Given the description of an element on the screen output the (x, y) to click on. 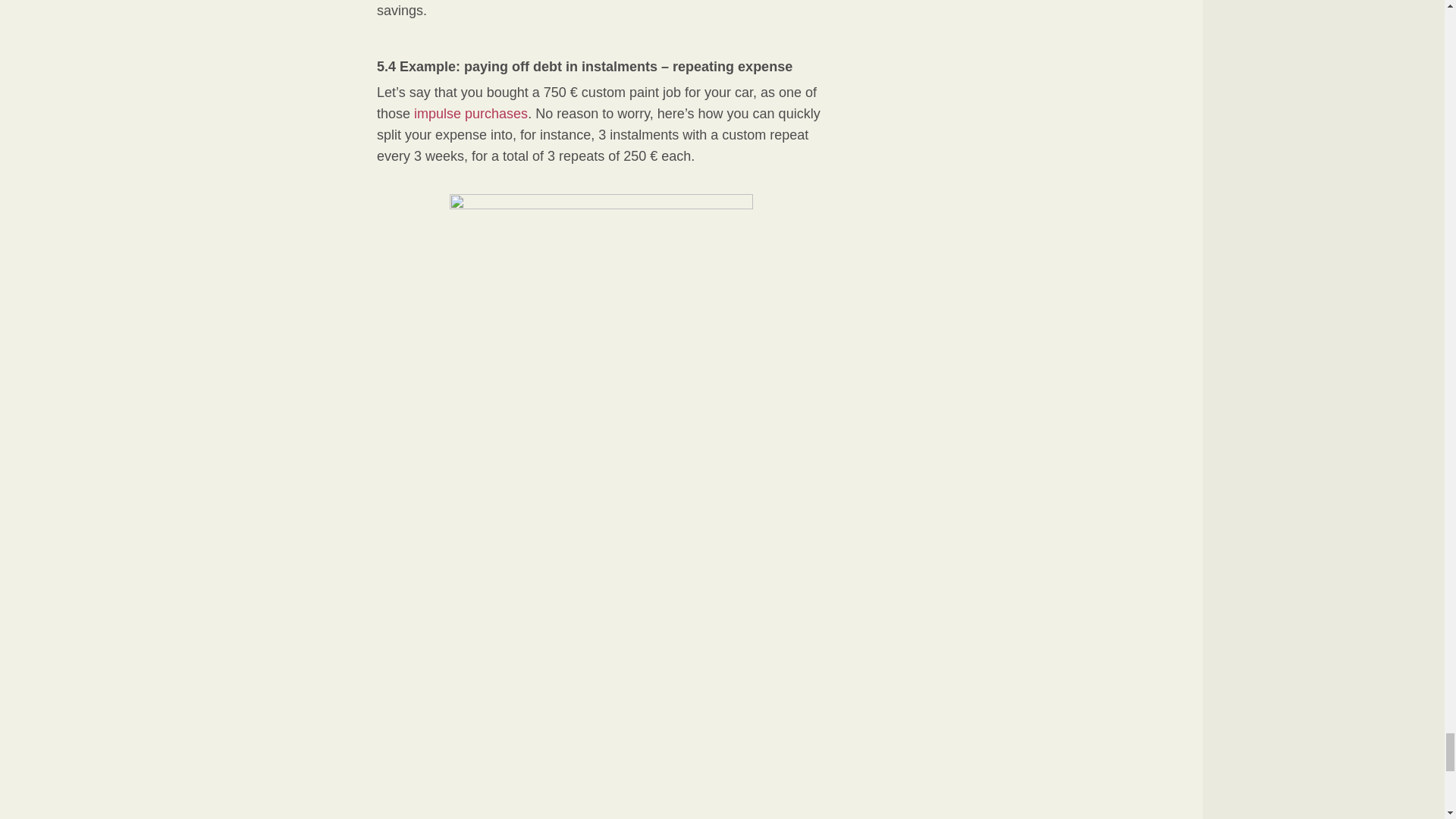
impulse purchases (470, 113)
